Given the description of an element on the screen output the (x, y) to click on. 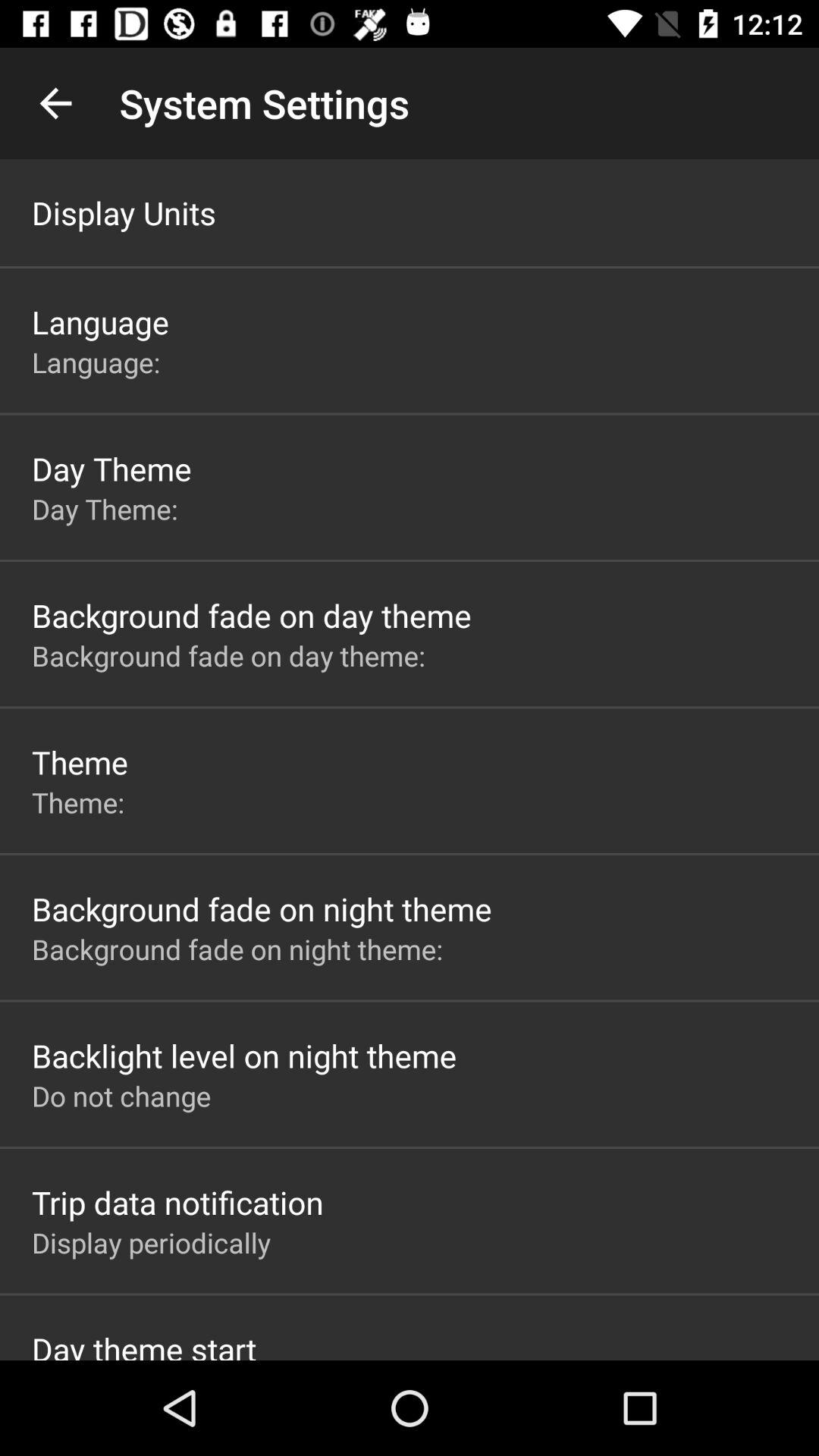
jump to the language:  item (99, 362)
